Given the description of an element on the screen output the (x, y) to click on. 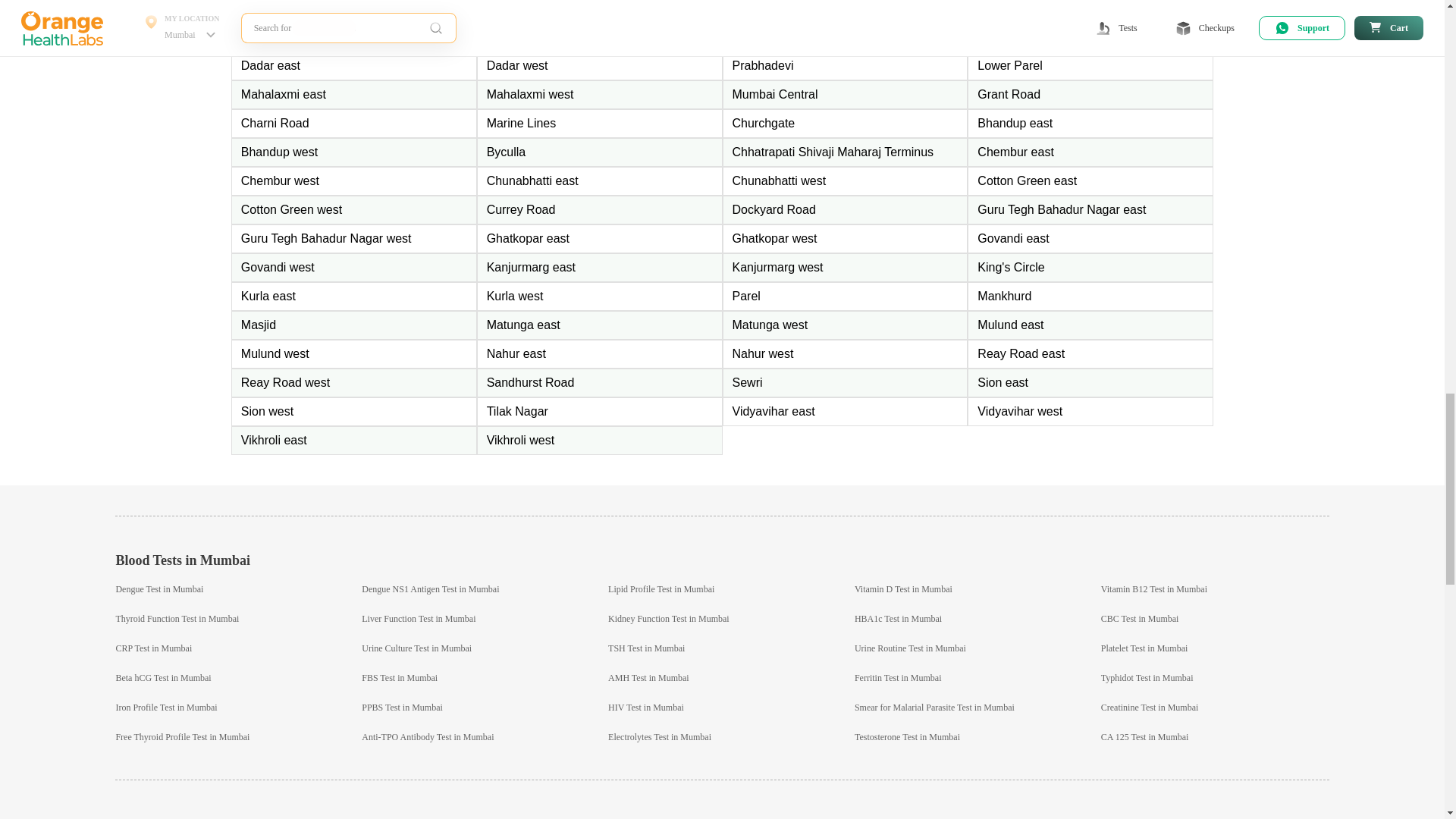
Beta hCG Test in Mumbai (163, 677)
Urine Culture Test in Mumbai (416, 647)
Thyroid Function Test in Mumbai (176, 618)
CRP Test in Mumbai (153, 647)
CBC Test in Mumbai (1139, 618)
HBA1c Test in Mumbai (898, 618)
TSH Test in Mumbai (646, 647)
Ferritin Test in Mumbai (898, 677)
Kidney Function Test in Mumbai (668, 618)
Dengue Test in Mumbai (159, 588)
Typhidot Test in Mumbai (1146, 677)
Iron Profile Test in Mumbai (165, 706)
Urine Routine Test in Mumbai (910, 647)
Liver Function Test in Mumbai (418, 618)
AMH Test in Mumbai (648, 677)
